Given the description of an element on the screen output the (x, y) to click on. 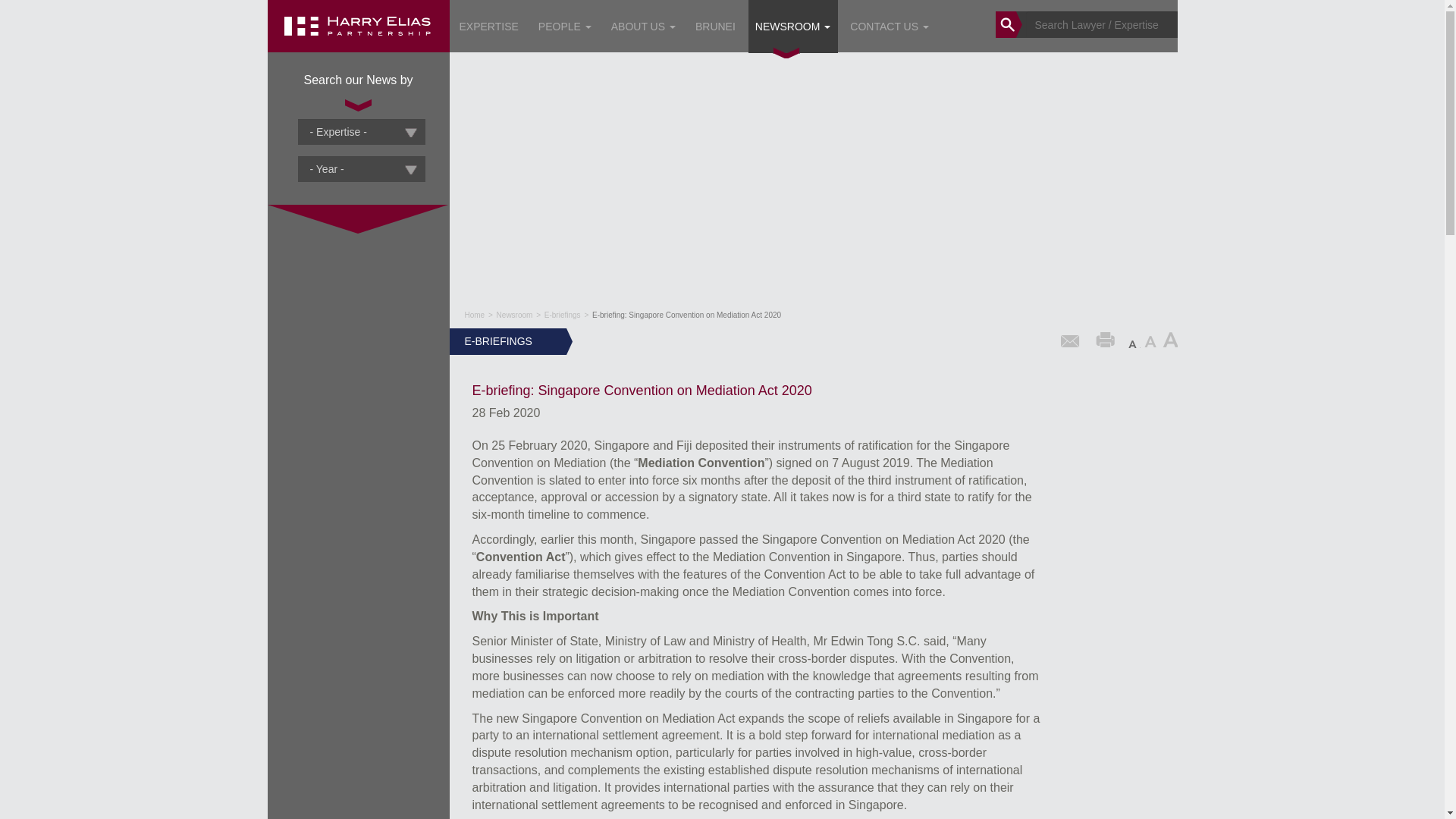
Print (1106, 340)
A (1150, 340)
ABOUT US (643, 29)
Home (357, 47)
NEWSROOM (792, 29)
Medium (1150, 340)
PEOPLE (564, 29)
EXPERTISE (487, 29)
CONTACT US (889, 29)
Large (1168, 340)
Newsroom (514, 315)
Home (474, 315)
A (1168, 340)
BRUNEI (715, 29)
